Given the description of an element on the screen output the (x, y) to click on. 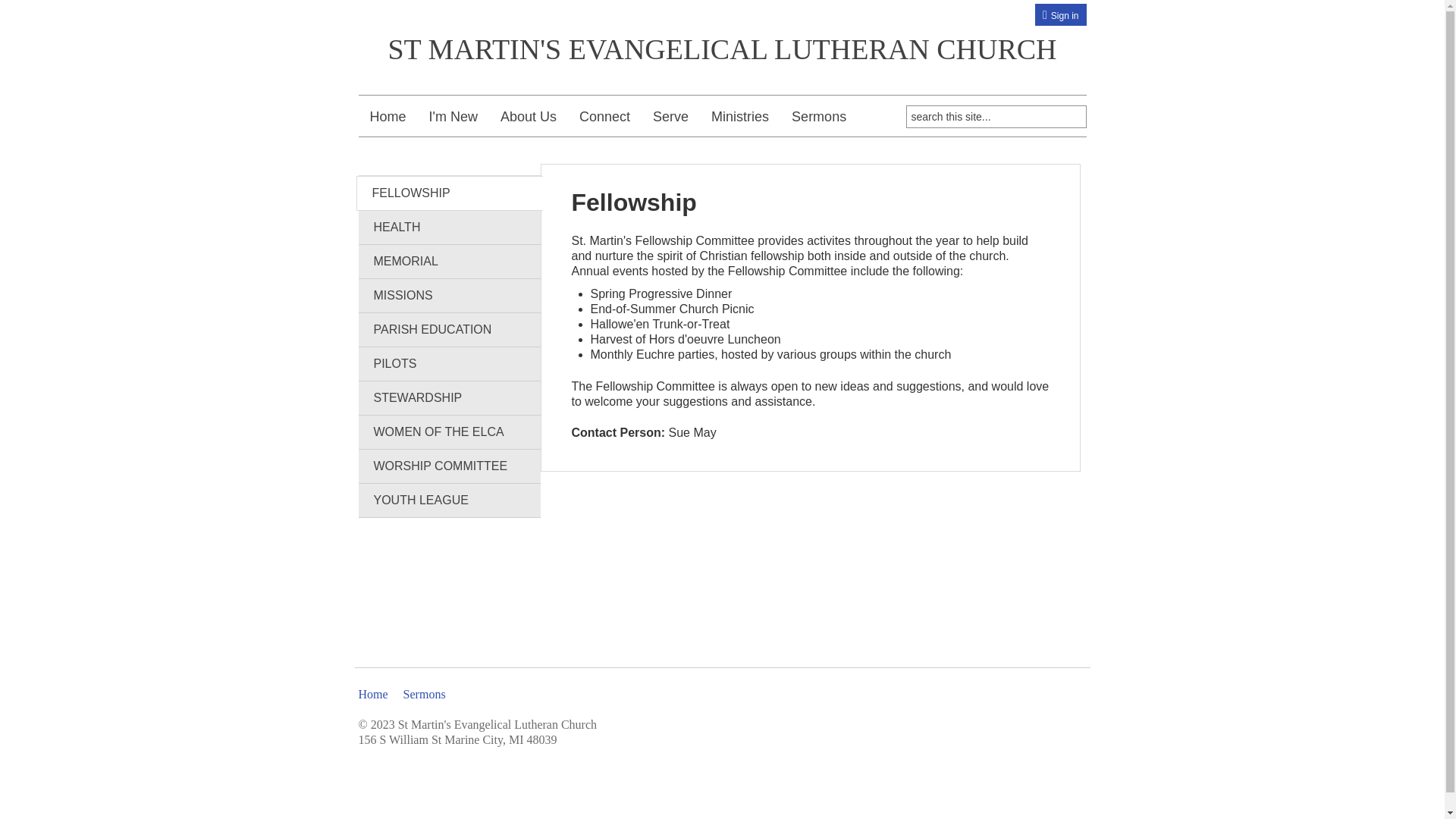
STEWARDSHIP Element type: text (448, 397)
YOUTH LEAGUE Element type: text (448, 500)
MISSIONS Element type: text (448, 295)
156 S William St Marine City, MI 48039 Element type: text (456, 739)
PILOTS Element type: text (448, 363)
MEMORIAL Element type: text (448, 261)
PARISH EDUCATION Element type: text (448, 329)
HEALTH Element type: text (448, 227)
Home Element type: text (374, 693)
Home Element type: text (387, 116)
Sign in Element type: text (1063, 15)
WORSHIP COMMITTEE Element type: text (448, 466)
Sermons Element type: text (426, 693)
WOMEN OF THE ELCA Element type: text (448, 431)
Sermons Element type: text (818, 116)
